Given the description of an element on the screen output the (x, y) to click on. 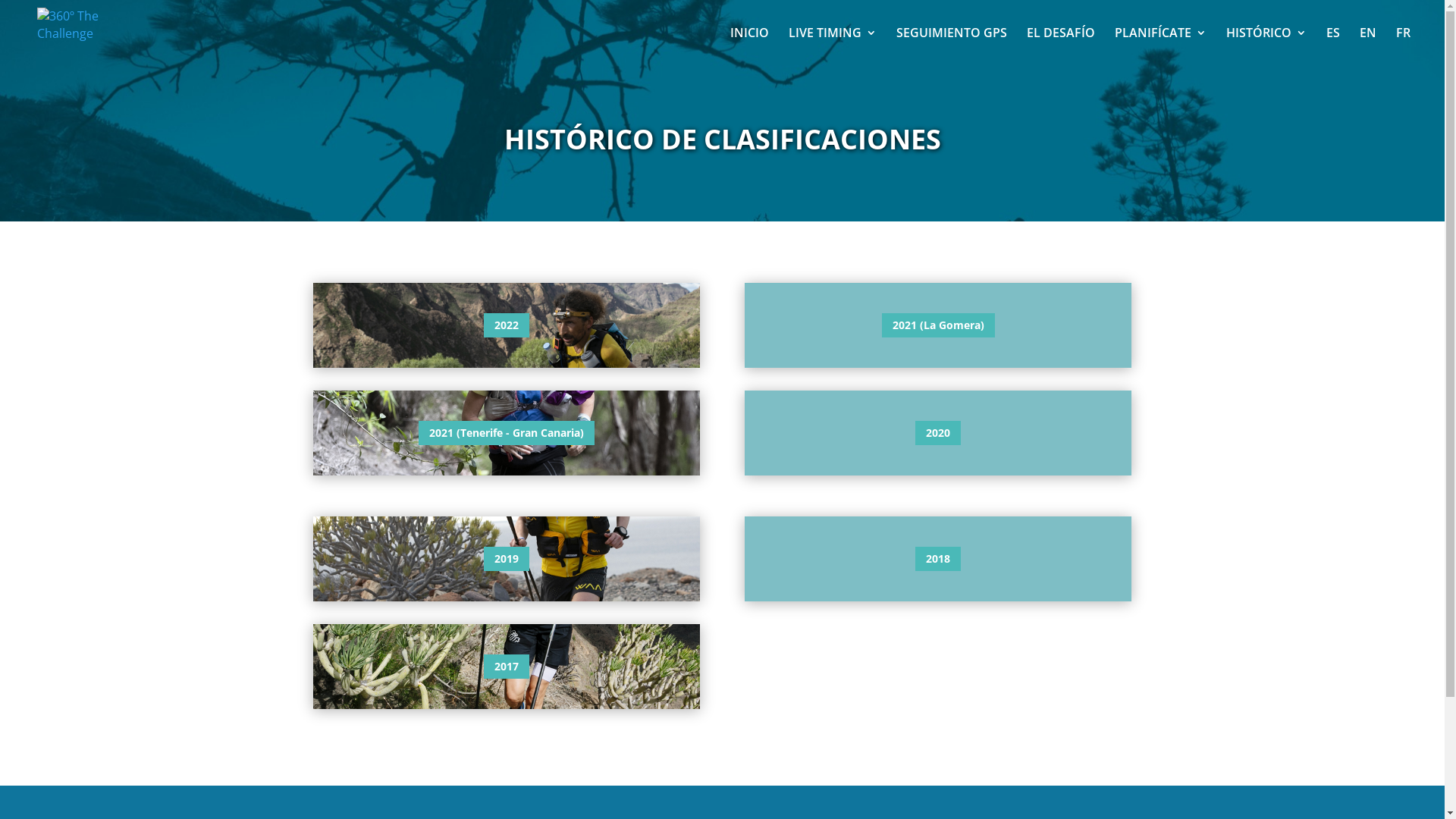
2019 Element type: text (506, 558)
2018 Element type: text (937, 558)
INICIO Element type: text (749, 46)
EN Element type: text (1367, 46)
2022 Element type: text (506, 325)
2020 Element type: text (937, 432)
SEGUIMIENTO GPS Element type: text (951, 46)
2017 Element type: text (506, 666)
2021 (La Gomera) Element type: text (937, 325)
ES Element type: text (1332, 46)
2021 (Tenerife - Gran Canaria) Element type: text (506, 432)
FR Element type: text (1403, 46)
LIVE TIMING Element type: text (832, 46)
